Given the description of an element on the screen output the (x, y) to click on. 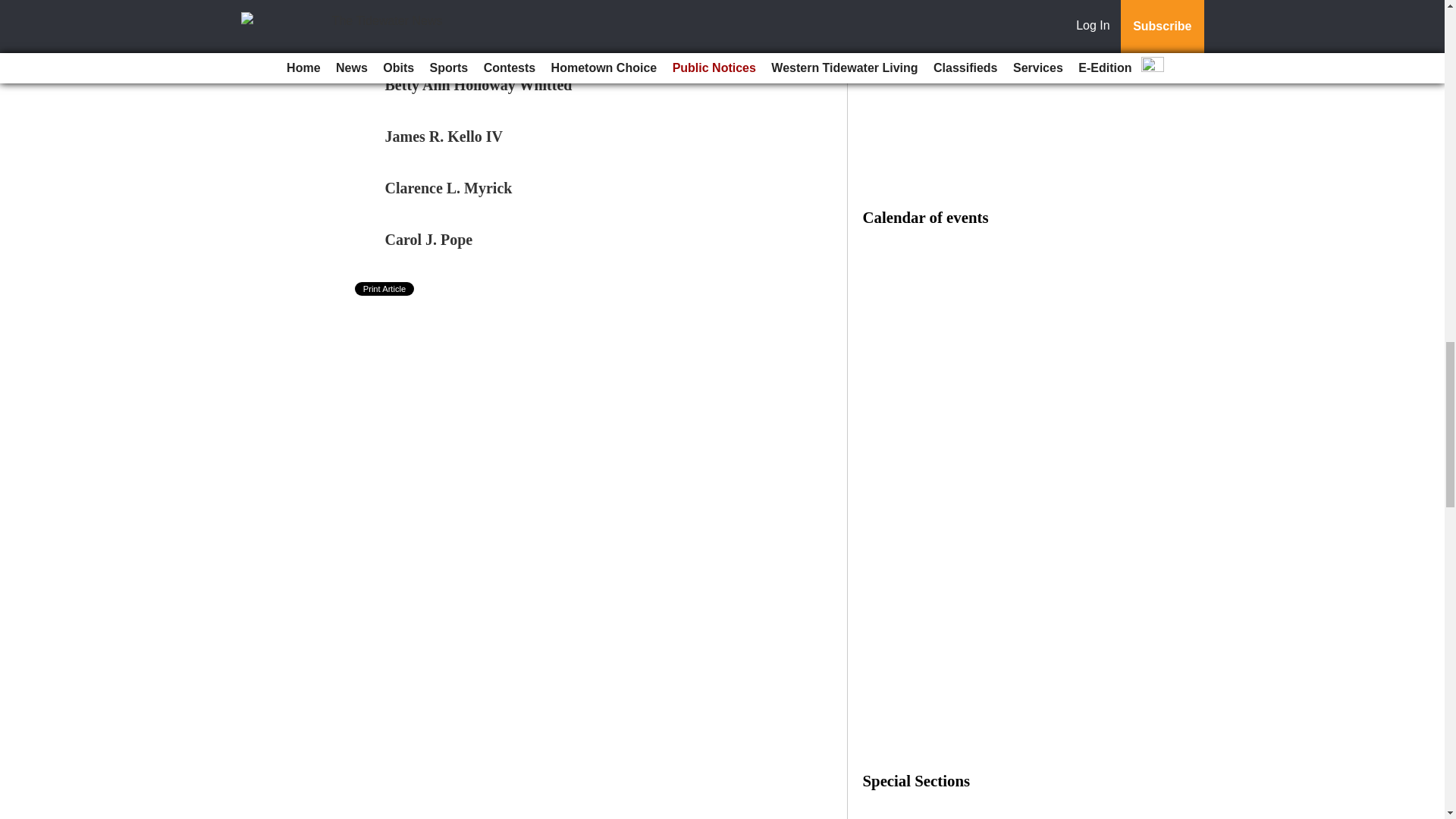
James R. Kello IV (444, 135)
Print Article (384, 288)
Betty Ann Holloway Whitted (478, 84)
Clarence L. Myrick (448, 187)
Carol J. Pope (429, 239)
Carol J. Pope (429, 239)
Betty Ann Holloway Whitted (478, 84)
James R. Kello IV (444, 135)
Clarence L. Myrick (448, 187)
